Given the description of an element on the screen output the (x, y) to click on. 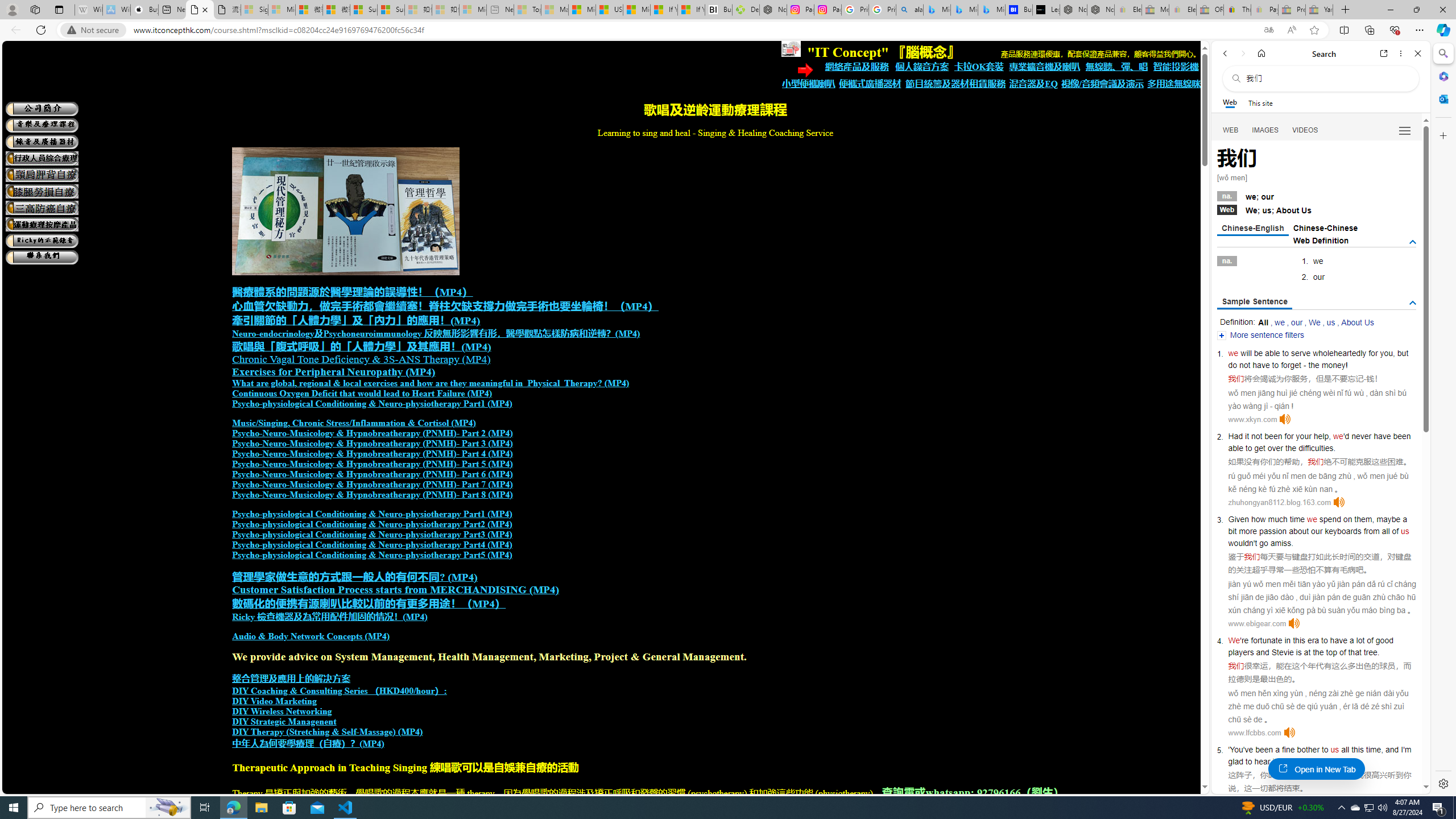
keyboards (1342, 530)
WebWe; us; About Us (1316, 209)
wholeheartedly (1340, 352)
Search Filter, VIDEOS (1304, 129)
lot (1360, 640)
and (1262, 651)
